Given the description of an element on the screen output the (x, y) to click on. 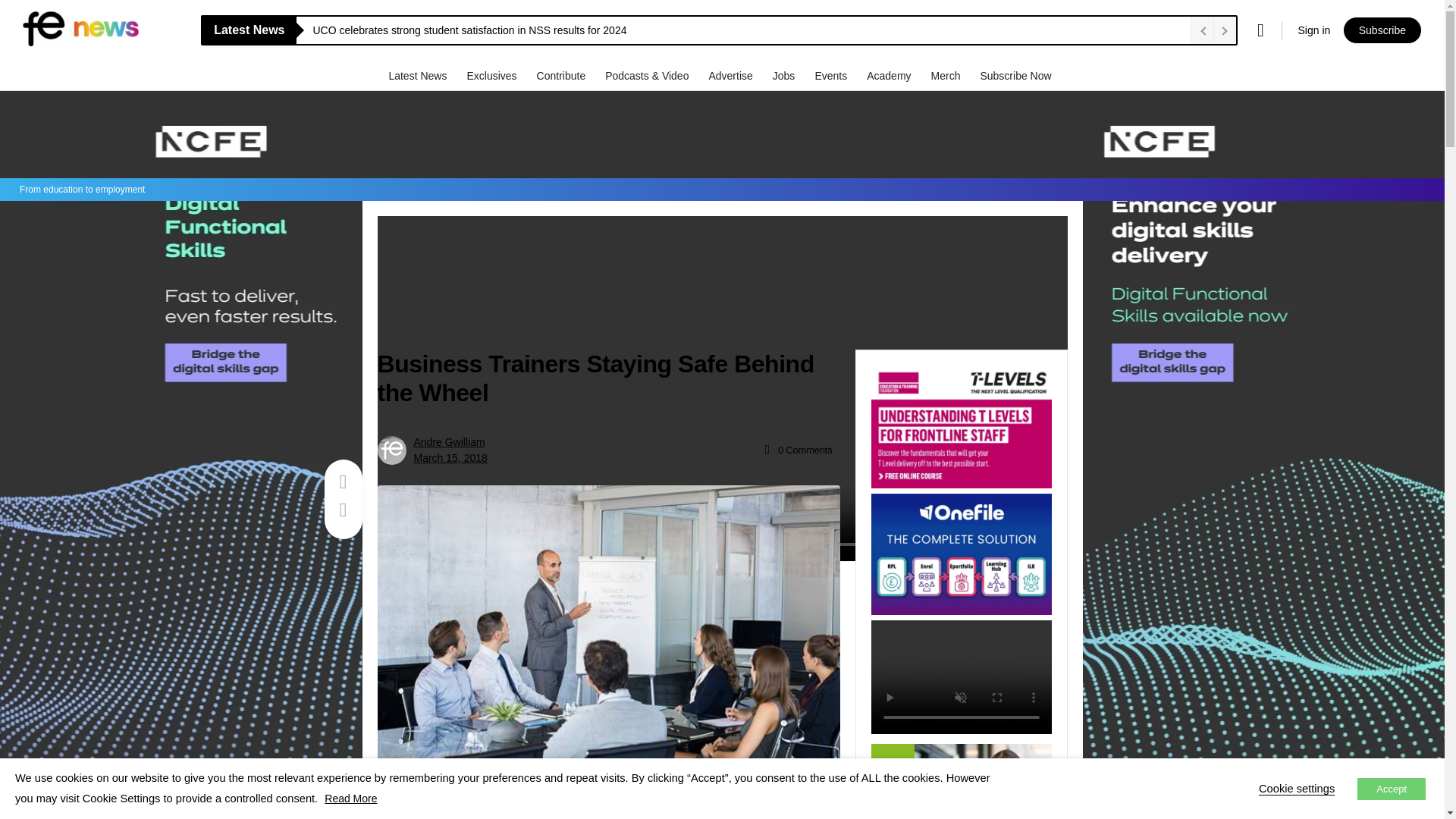
Subscribe (1382, 30)
Exclusives (493, 75)
Latest News (419, 75)
Sign in (1313, 30)
